Given the description of an element on the screen output the (x, y) to click on. 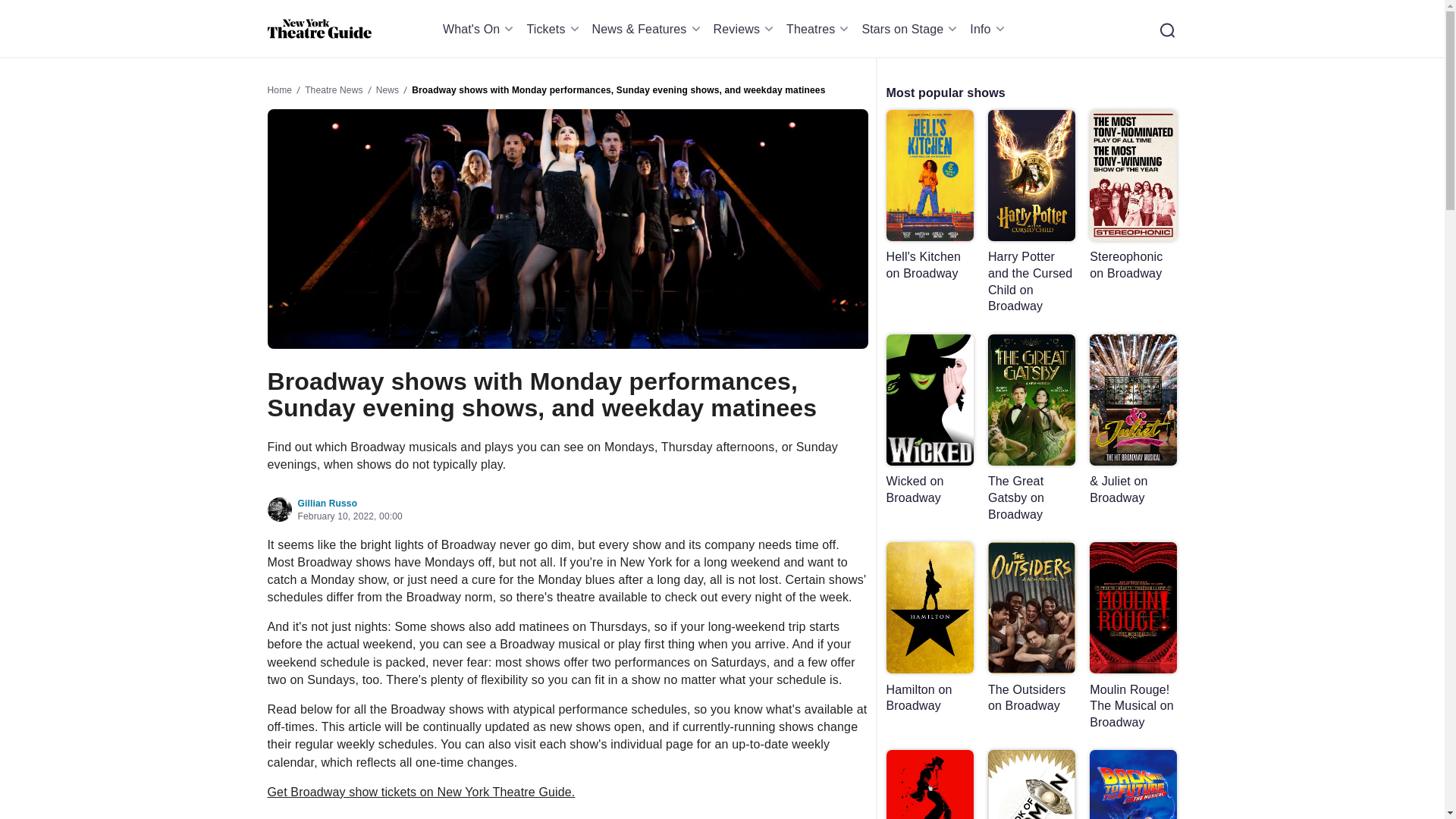
Read more about The Book of Mormon on Broadway (1031, 784)
Tickets (554, 28)
What's On (480, 28)
Read more about MJ The Musical on Broadway (928, 784)
Theatres (819, 28)
Reviews (745, 28)
Read more about Back to the Future on Broadway (1132, 784)
Home (318, 28)
